Given the description of an element on the screen output the (x, y) to click on. 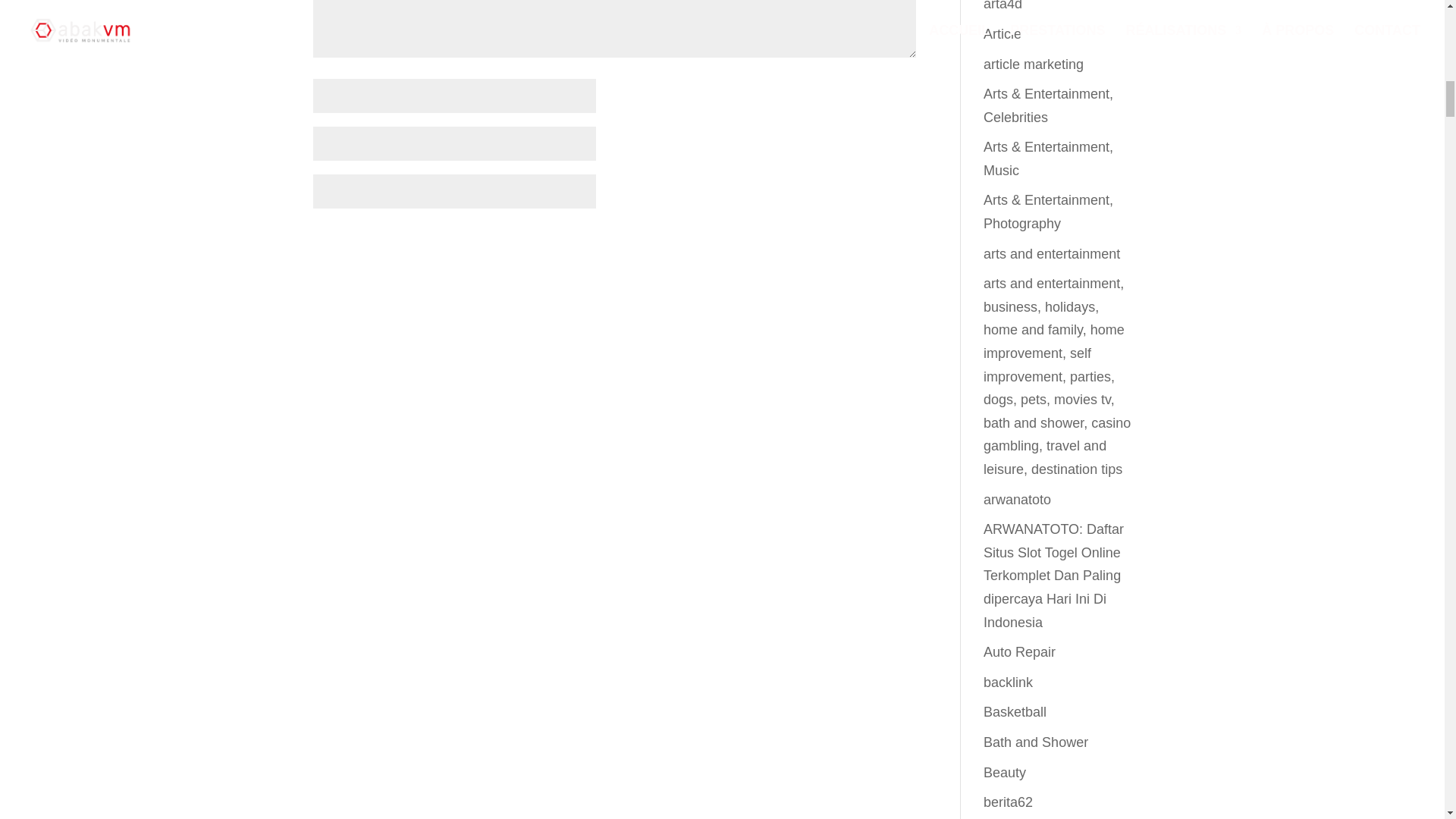
Poster le commentaire (822, 240)
Poster le commentaire (822, 240)
